Given the description of an element on the screen output the (x, y) to click on. 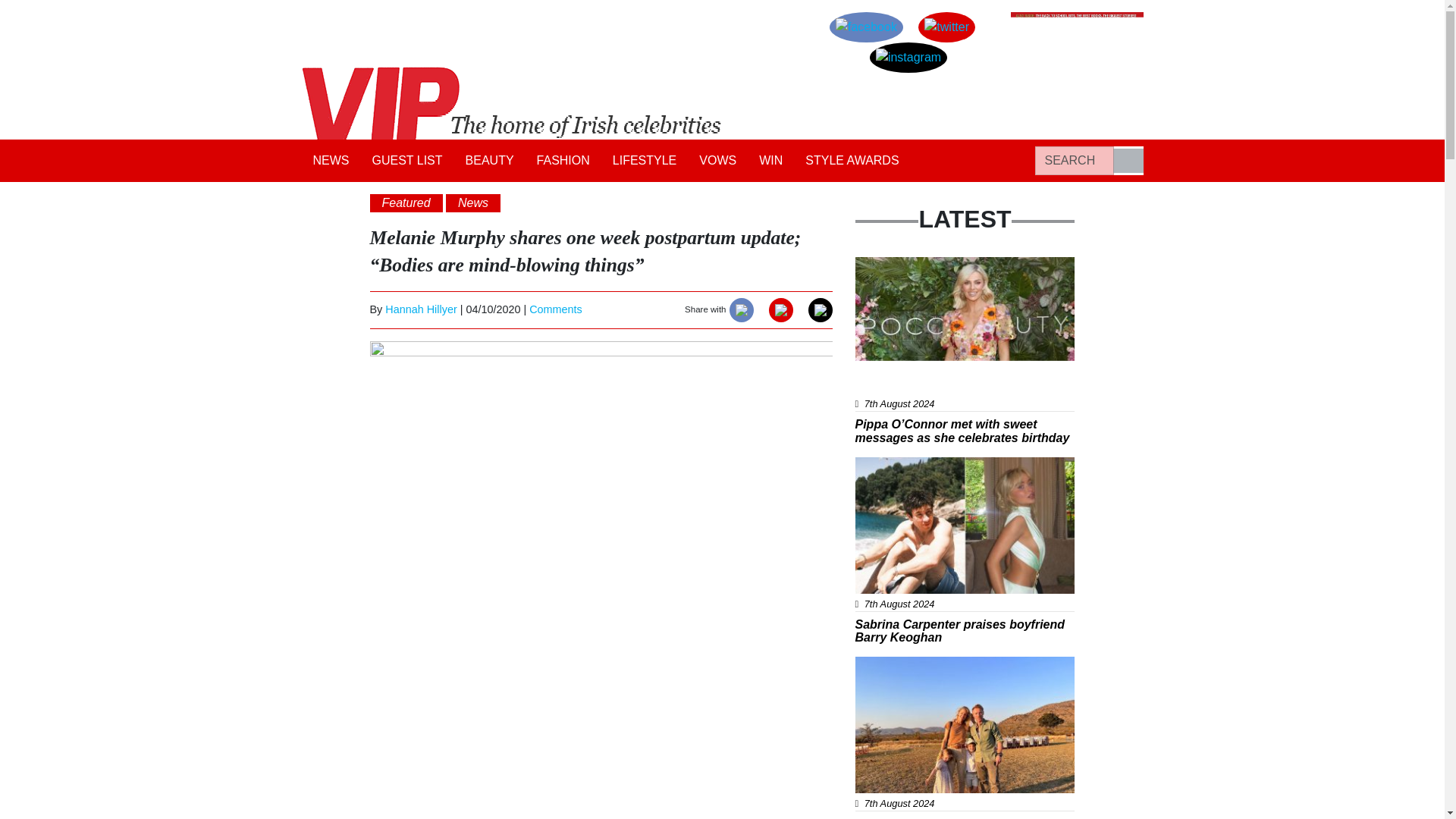
BEAUTY (489, 160)
News (472, 203)
Hannah Hillyer (421, 309)
NEWS (331, 160)
LIFESTYLE (644, 160)
STYLE AWARDS (851, 160)
Comments (555, 309)
Featured (405, 203)
News (881, 465)
WIN (770, 160)
News (881, 265)
GUEST LIST (407, 160)
VOWS (717, 160)
FASHION (563, 160)
